Given the description of an element on the screen output the (x, y) to click on. 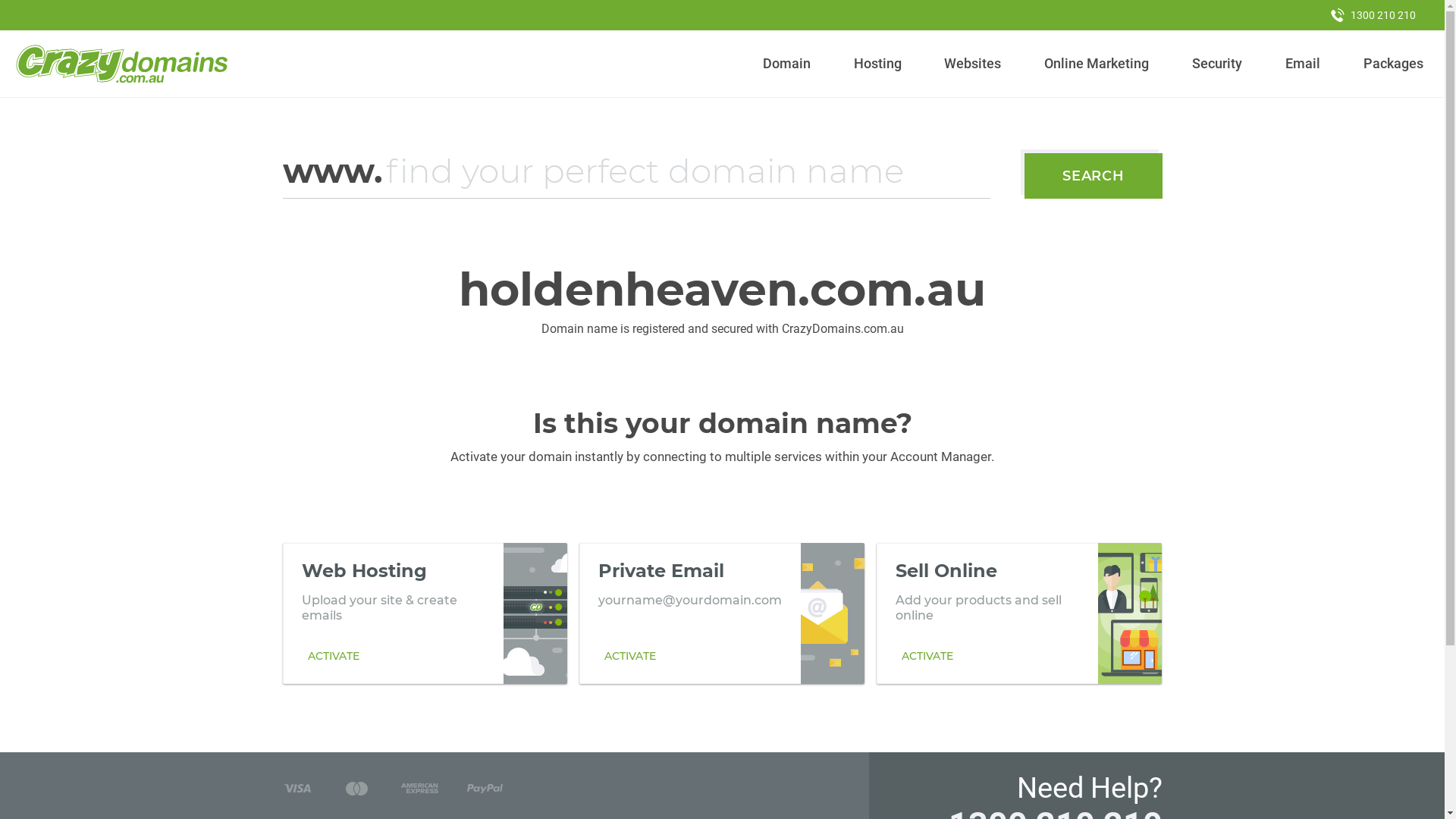
Web Hosting
Upload your site & create emails
ACTIVATE Element type: text (424, 613)
1300 210 210 Element type: text (1373, 15)
Packages Element type: text (1392, 63)
Sell Online
Add your products and sell online
ACTIVATE Element type: text (1018, 613)
Domain Element type: text (786, 63)
Hosting Element type: text (877, 63)
SEARCH Element type: text (1092, 175)
Private Email
yourname@yourdomain.com
ACTIVATE Element type: text (721, 613)
Websites Element type: text (972, 63)
Security Element type: text (1217, 63)
Online Marketing Element type: text (1096, 63)
Email Element type: text (1302, 63)
